Given the description of an element on the screen output the (x, y) to click on. 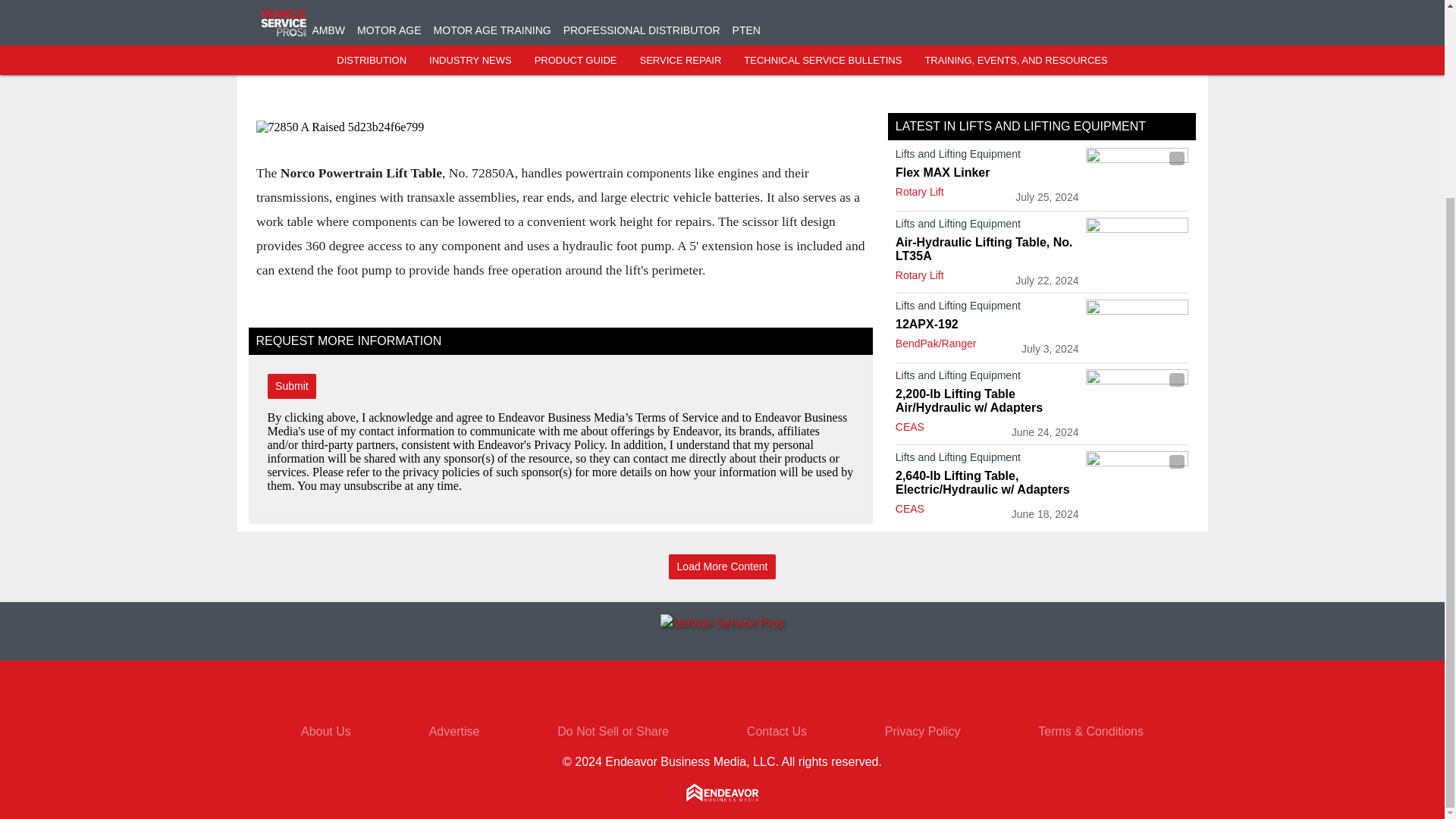
Air-Hydraulic Lifting Table, No. LT35A (986, 248)
12APX-192 (986, 324)
CEAS (909, 426)
Submit (290, 385)
Lifts and Lifting Equipment (986, 378)
Lifts and Lifting Equipment (986, 226)
72850 A Raised 5d23b24f6e799 (560, 127)
Flex MAX Linker (986, 172)
Lifts and Lifting Equipment (986, 308)
Rotary Lift (919, 275)
Rotary Lift (919, 191)
Lifts and Lifting Equipment (986, 157)
